Given the description of an element on the screen output the (x, y) to click on. 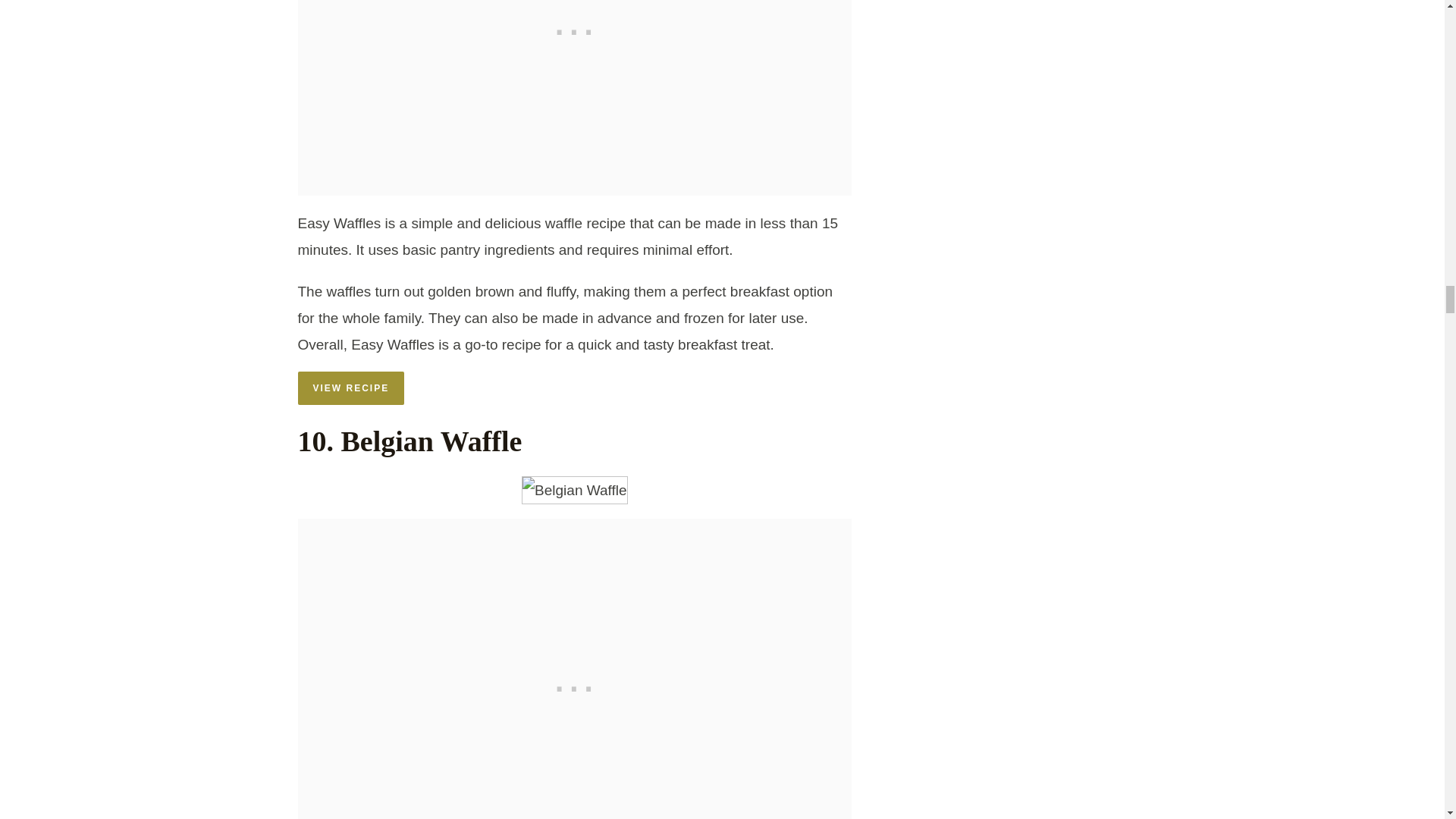
Belgian Waffle (574, 489)
VIEW RECIPE (350, 387)
